Given the description of an element on the screen output the (x, y) to click on. 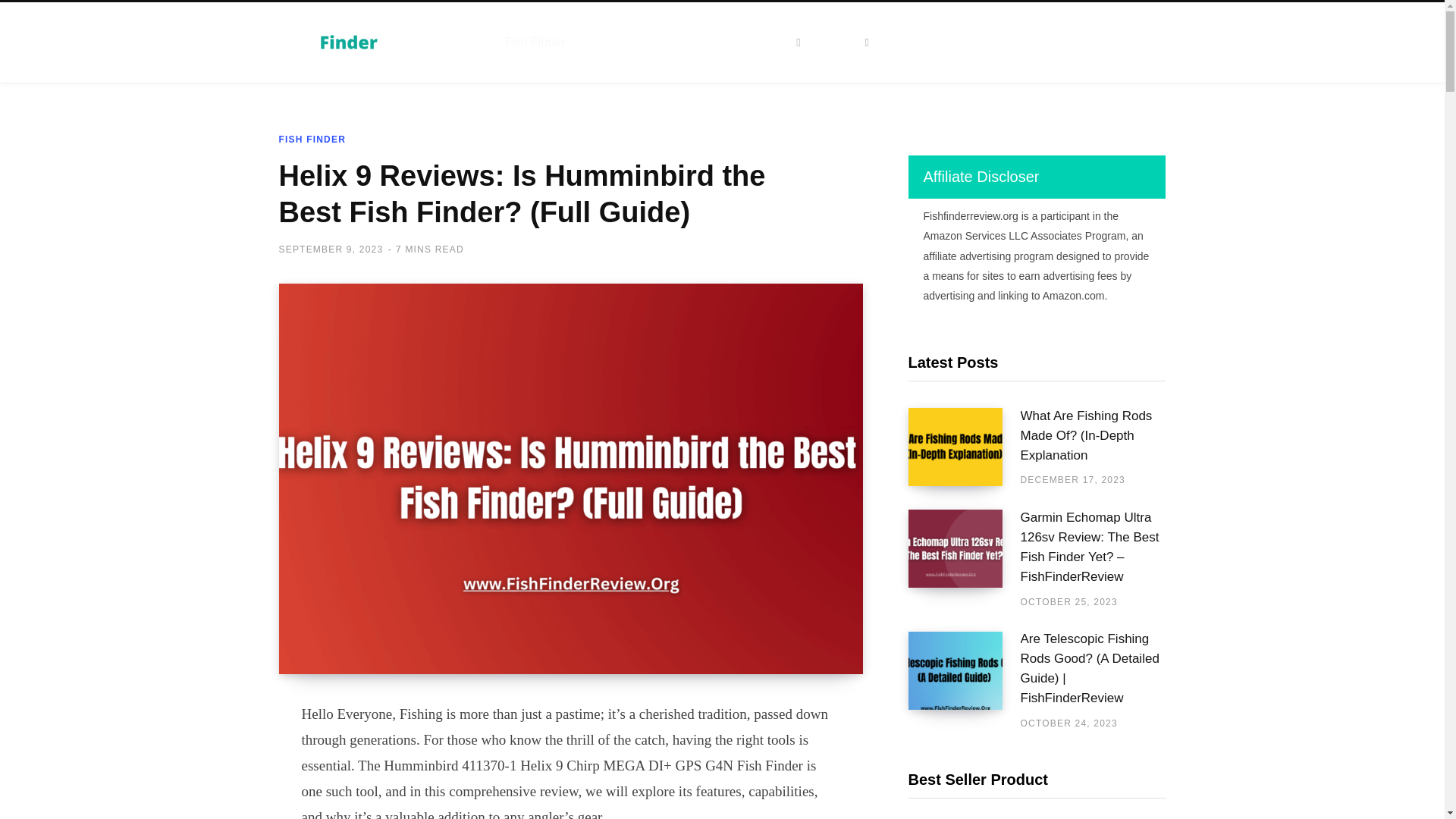
FISH FINDER (312, 139)
Fish Finder (535, 41)
Affiliate Disclosure (1031, 41)
Fishing Accessories (742, 41)
Fishing Tips (625, 41)
Contact us (925, 41)
Brand (847, 41)
SEPTEMBER 9, 2023 (331, 249)
Fish Finder Review (373, 41)
